Given the description of an element on the screen output the (x, y) to click on. 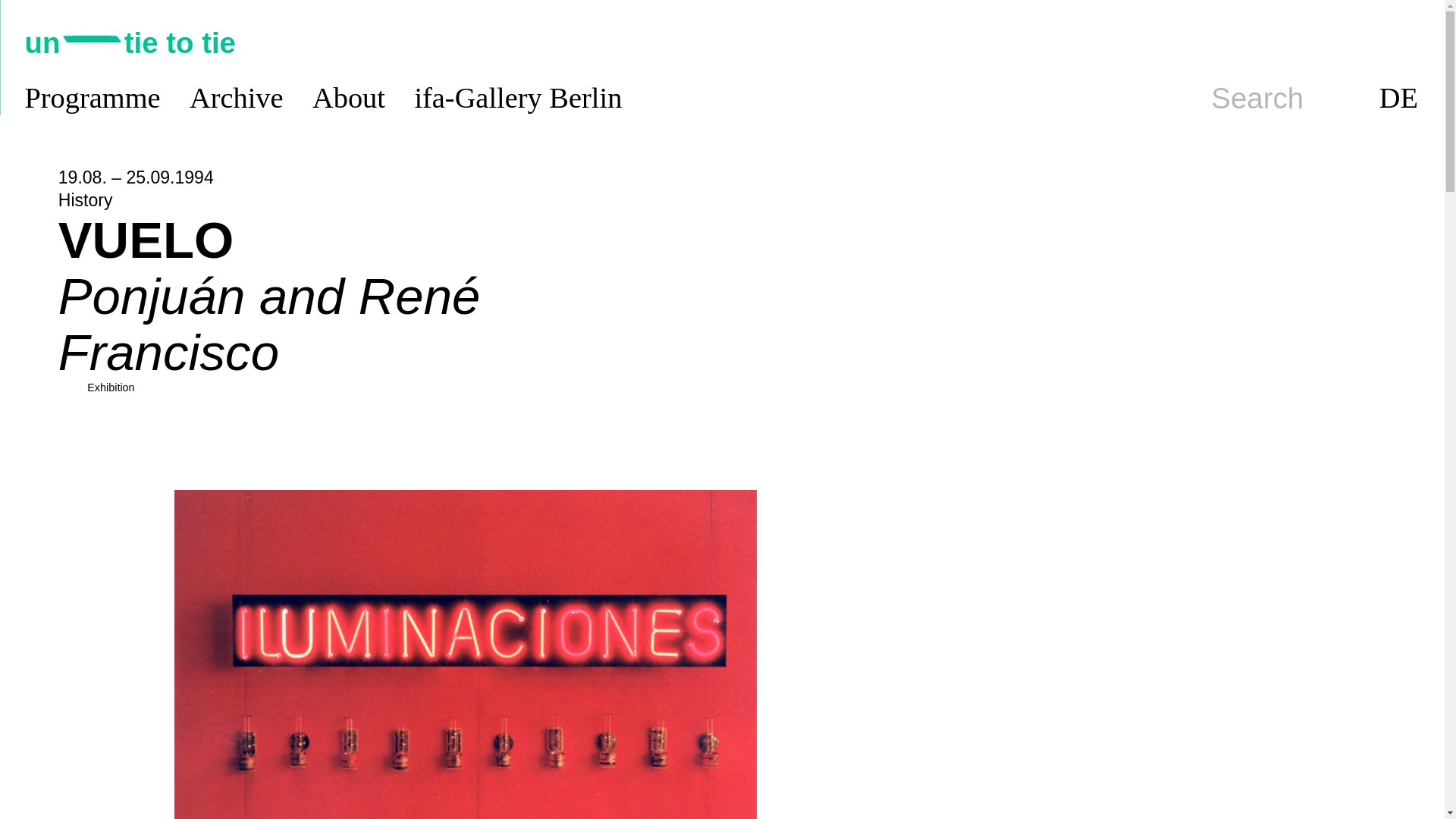
Facebook (1405, 42)
Youtube (1369, 42)
Archive (236, 98)
About (349, 98)
DE (1398, 98)
Instagram (1332, 42)
Exhibition (110, 387)
Programme (92, 98)
Soundcloud (1296, 42)
Search (1257, 98)
ifa-Gallery Berlin (517, 98)
